Given the description of an element on the screen output the (x, y) to click on. 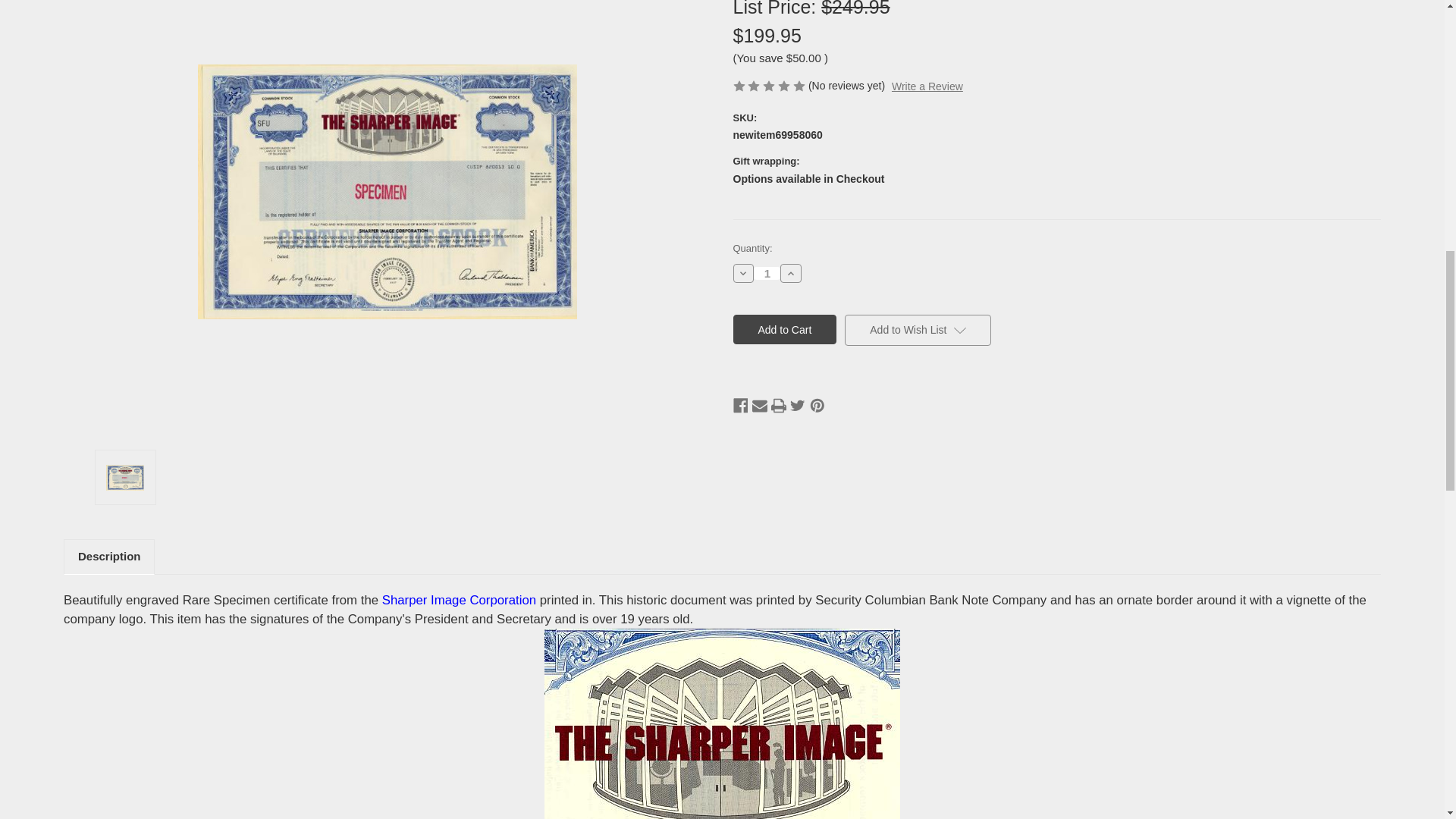
Pinterest (817, 405)
Add to Cart (783, 329)
Sharper Image Corporation - New York 1987 (387, 191)
Email (759, 405)
Facebook (740, 405)
Sharper Image Corporation - New York 1987 (125, 477)
Twitter (797, 405)
1 (767, 273)
Print (778, 405)
